Given the description of an element on the screen output the (x, y) to click on. 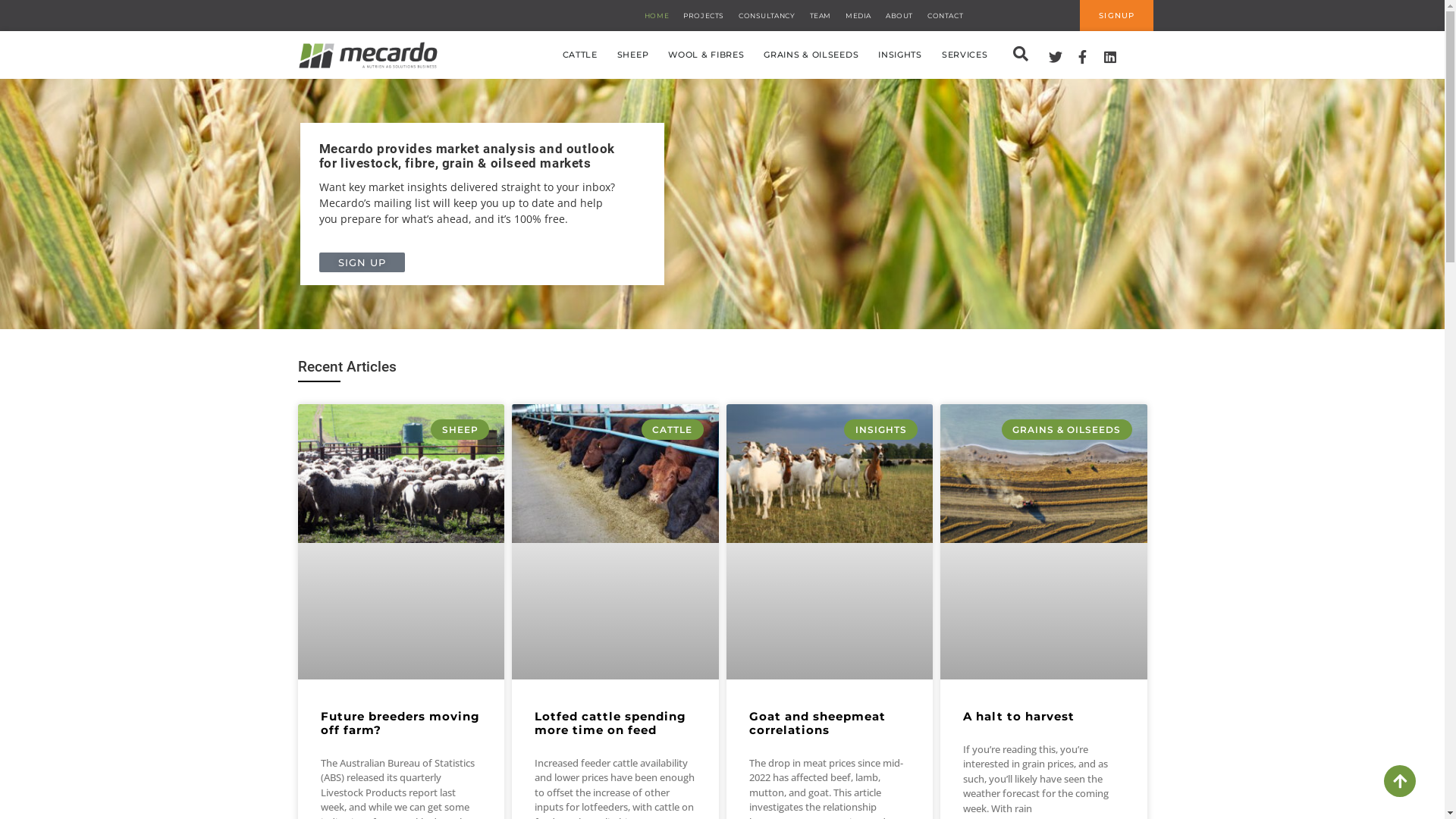
WOOL & FIBRES Element type: text (705, 54)
Goat and sheepmeat correlations Element type: text (817, 723)
Lotfed cattle spending more time on feed Element type: text (610, 723)
CONSULTANCY Element type: text (766, 14)
SHEEP Element type: text (633, 54)
GRAINS & OILSEEDS Element type: text (810, 54)
CATTLE Element type: text (579, 54)
SERVICES Element type: text (964, 54)
MEDIA Element type: text (858, 14)
SIGNUP Element type: text (1116, 15)
Future breeders moving off farm? Element type: text (399, 723)
PROJECTS Element type: text (703, 14)
INSIGHTS Element type: text (900, 54)
SIGN UP Element type: text (361, 262)
HOME Element type: text (656, 14)
TEAM Element type: text (820, 14)
A halt to harvest Element type: text (1018, 716)
ABOUT Element type: text (899, 14)
CONTACT Element type: text (945, 14)
